Given the description of an element on the screen output the (x, y) to click on. 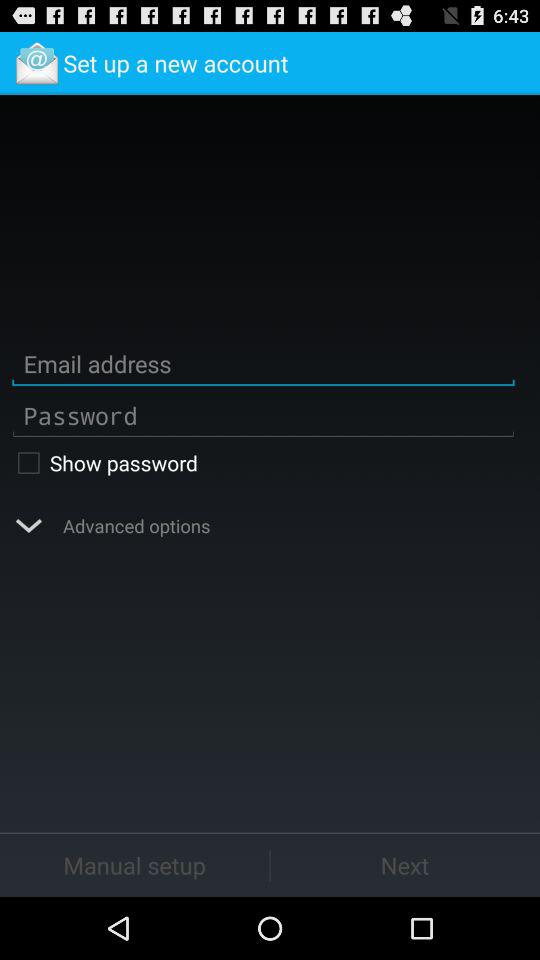
tap the item to the right of manual setup (405, 864)
